Given the description of an element on the screen output the (x, y) to click on. 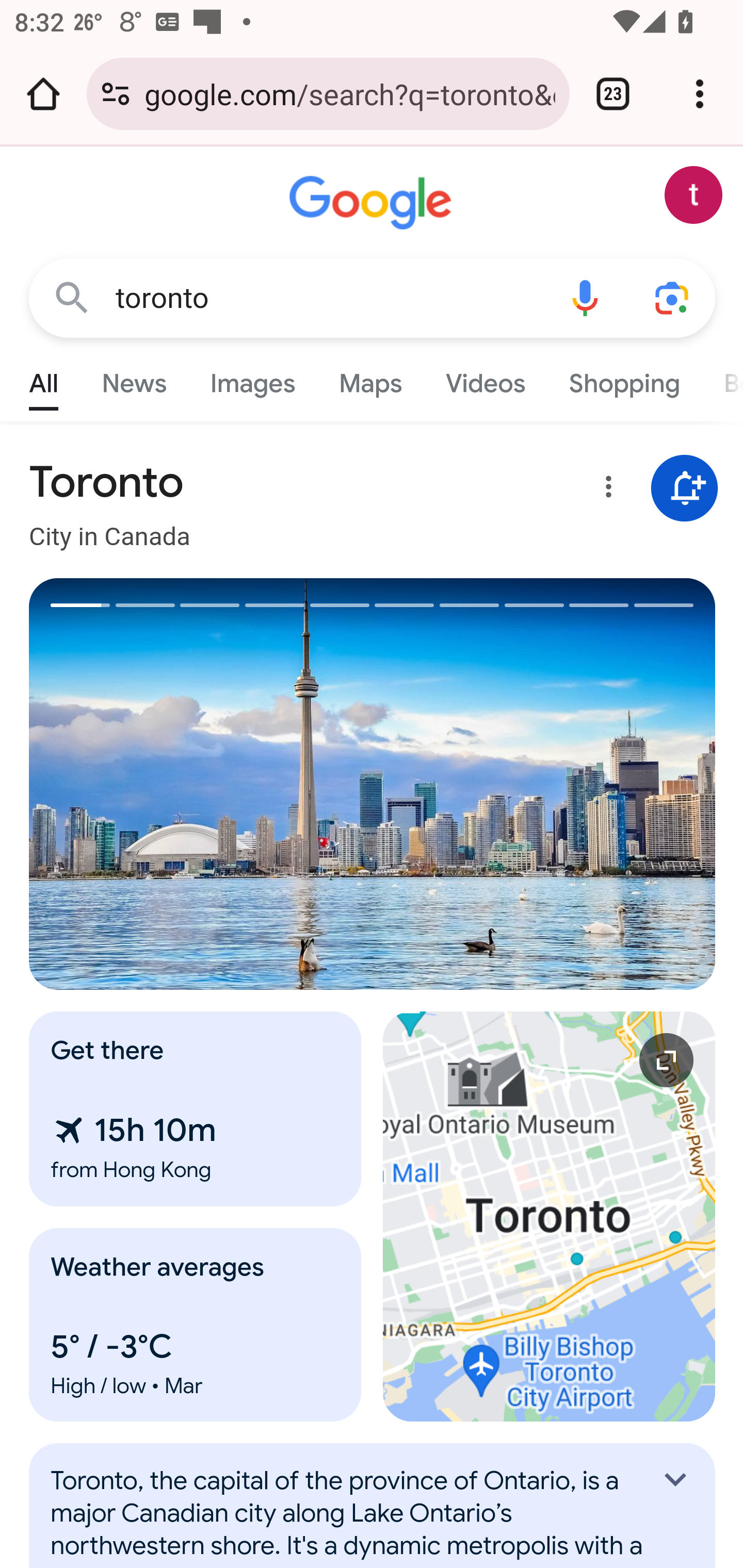
Open the home page (43, 93)
Connection is secure (115, 93)
Switch or close tabs (612, 93)
Customize and control Google Chrome (699, 93)
Google (372, 203)
Google Search (71, 296)
Search using your camera or photos (672, 296)
toronto (328, 297)
News (134, 378)
Images (252, 378)
Maps (369, 378)
Videos (485, 378)
Shopping (623, 378)
Get notifications about Toronto (684, 489)
More options (605, 489)
Previous image (200, 783)
Next image (544, 783)
Expand map (549, 1216)
Weather averages 5° / -3°C High / low • Mar (195, 1324)
